Given the description of an element on the screen output the (x, y) to click on. 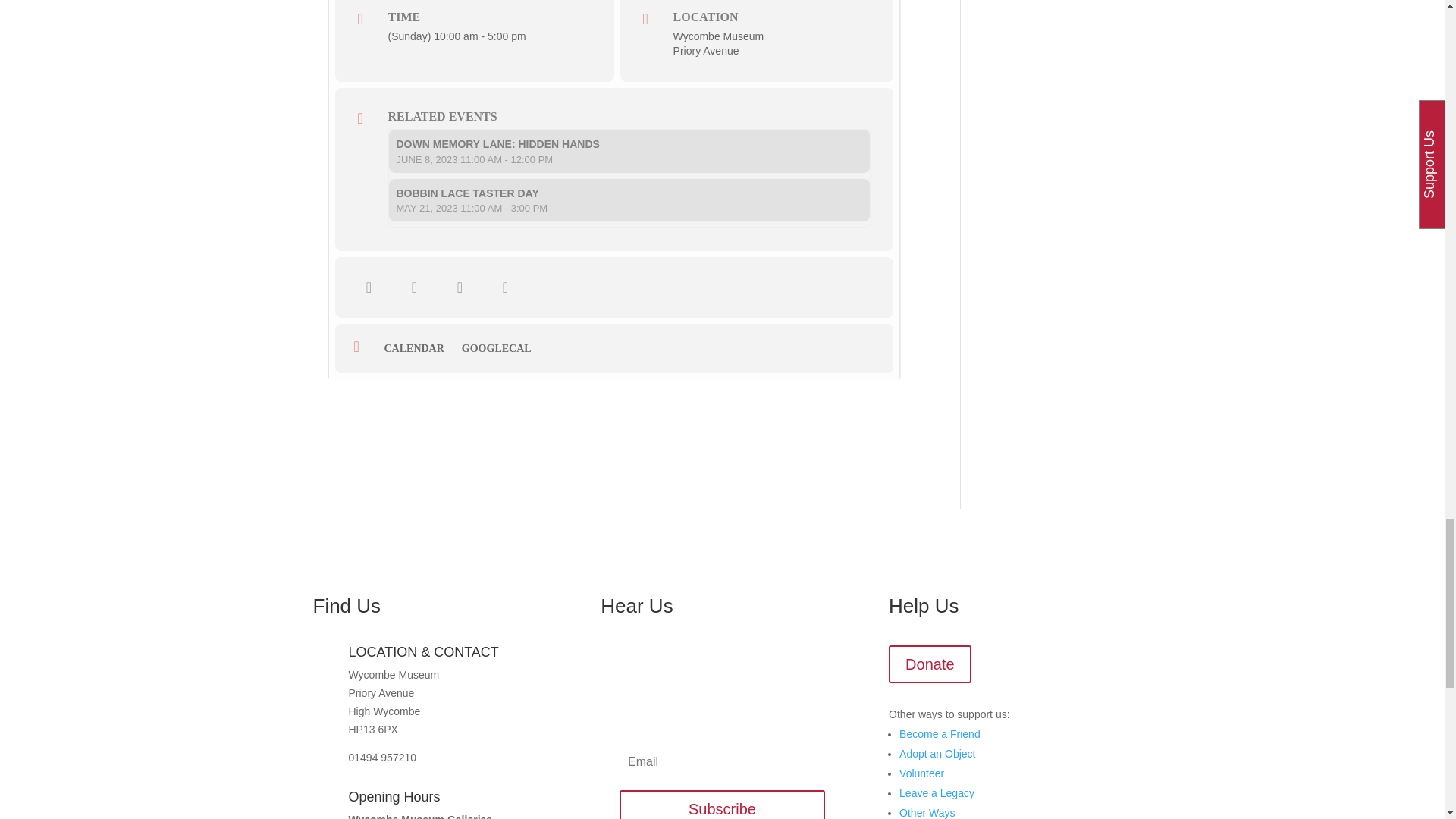
Share on facebook (369, 287)
Share on Linkedin (460, 287)
Add to google calendar (502, 348)
Share on Twitter (414, 287)
Add to your calendar (419, 348)
